Given the description of an element on the screen output the (x, y) to click on. 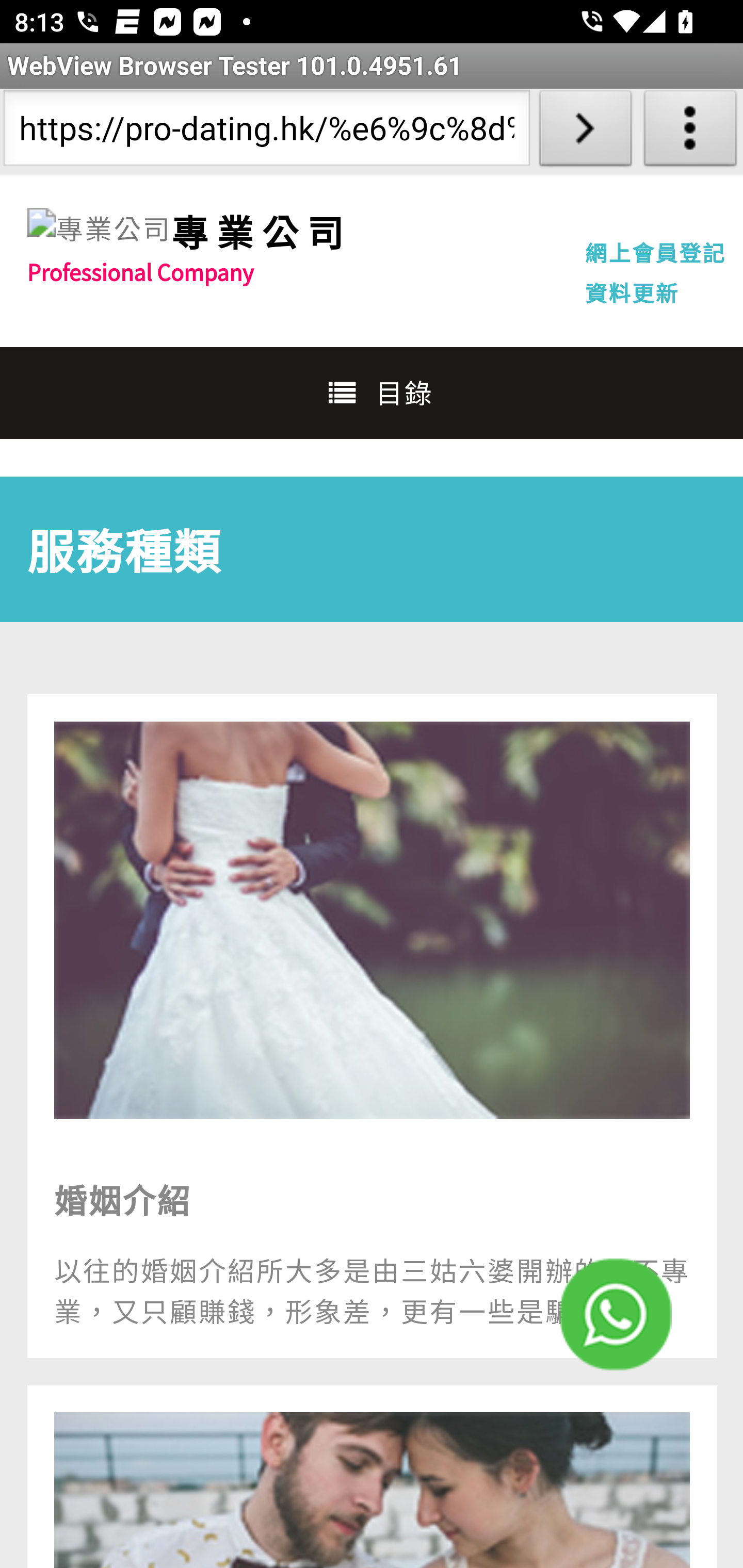
Load URL (585, 132)
About WebView (690, 132)
專業公司 (261, 230)
專業公司 (99, 228)
網上會員登記 (655, 251)
資料更新 (631, 292)
目錄  目錄 (371, 391)
sidewhatsapp (616, 1314)
